Given the description of an element on the screen output the (x, y) to click on. 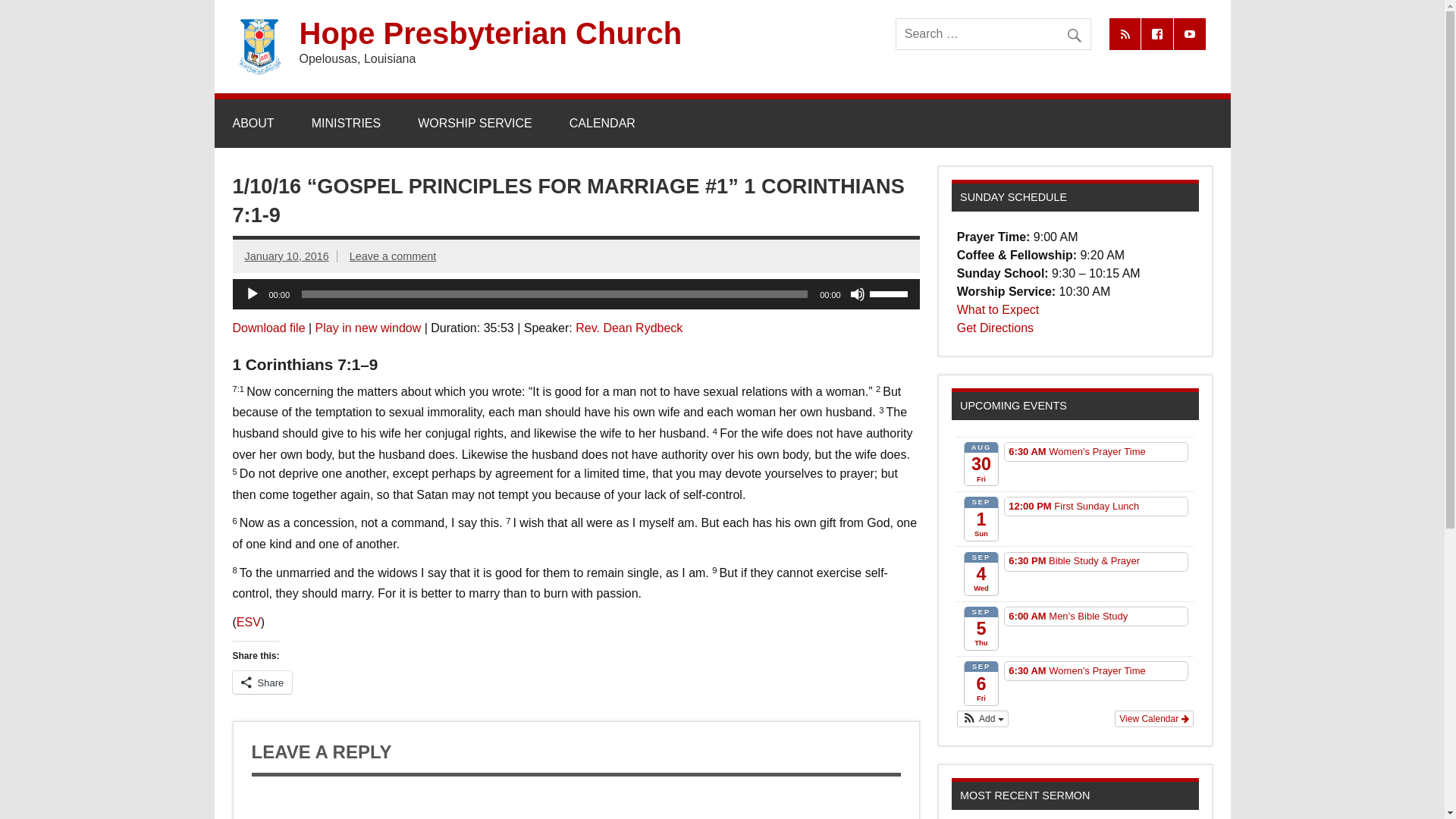
Hope Presbyterian Church (489, 32)
Rev. Dean Rydbeck (628, 327)
Play (251, 294)
Leave a comment (392, 256)
Play in new window (368, 327)
WORSHIP SERVICE (474, 123)
January 10, 2016 (286, 256)
12:39 PM (286, 256)
MINISTRIES (346, 123)
ABOUT (253, 123)
